Given the description of an element on the screen output the (x, y) to click on. 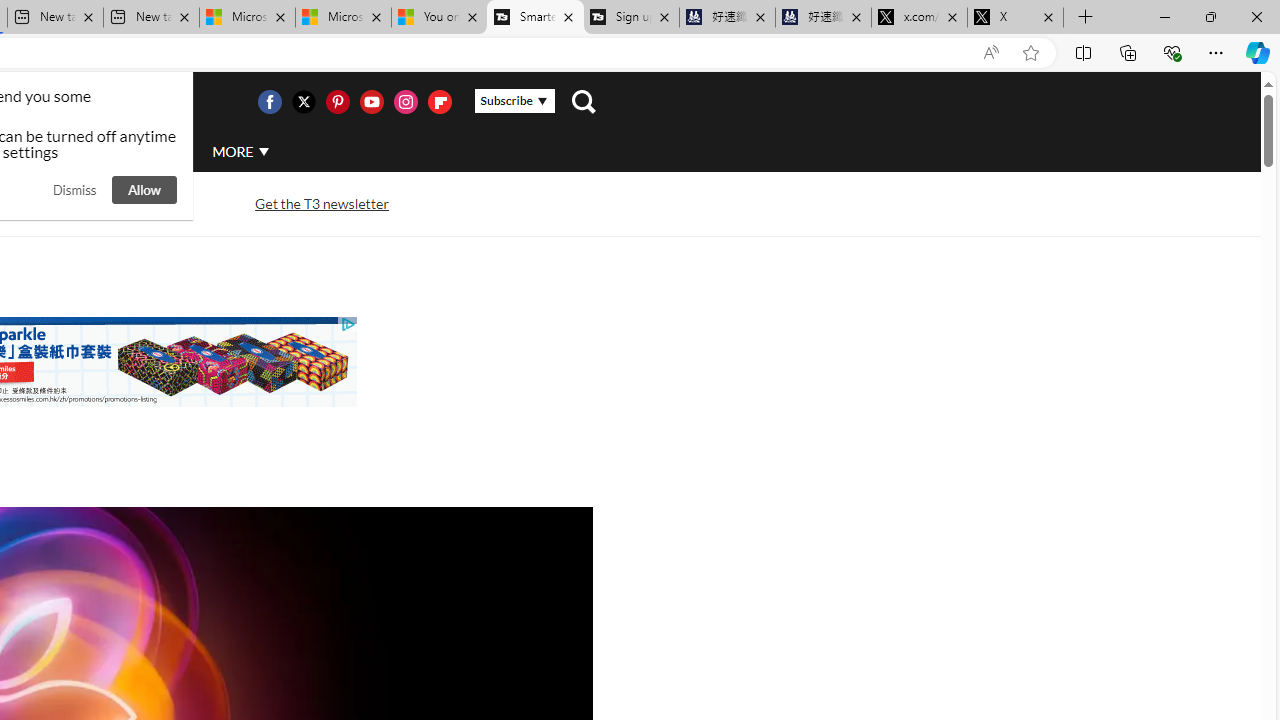
Class: svg-arrow-down (264, 151)
Class: navigation__search (583, 101)
AUTO (153, 151)
Dismiss (73, 190)
Visit us on Twitter (303, 101)
AUTO (153, 151)
LUXURY (66, 151)
Allow (144, 190)
